Given the description of an element on the screen output the (x, y) to click on. 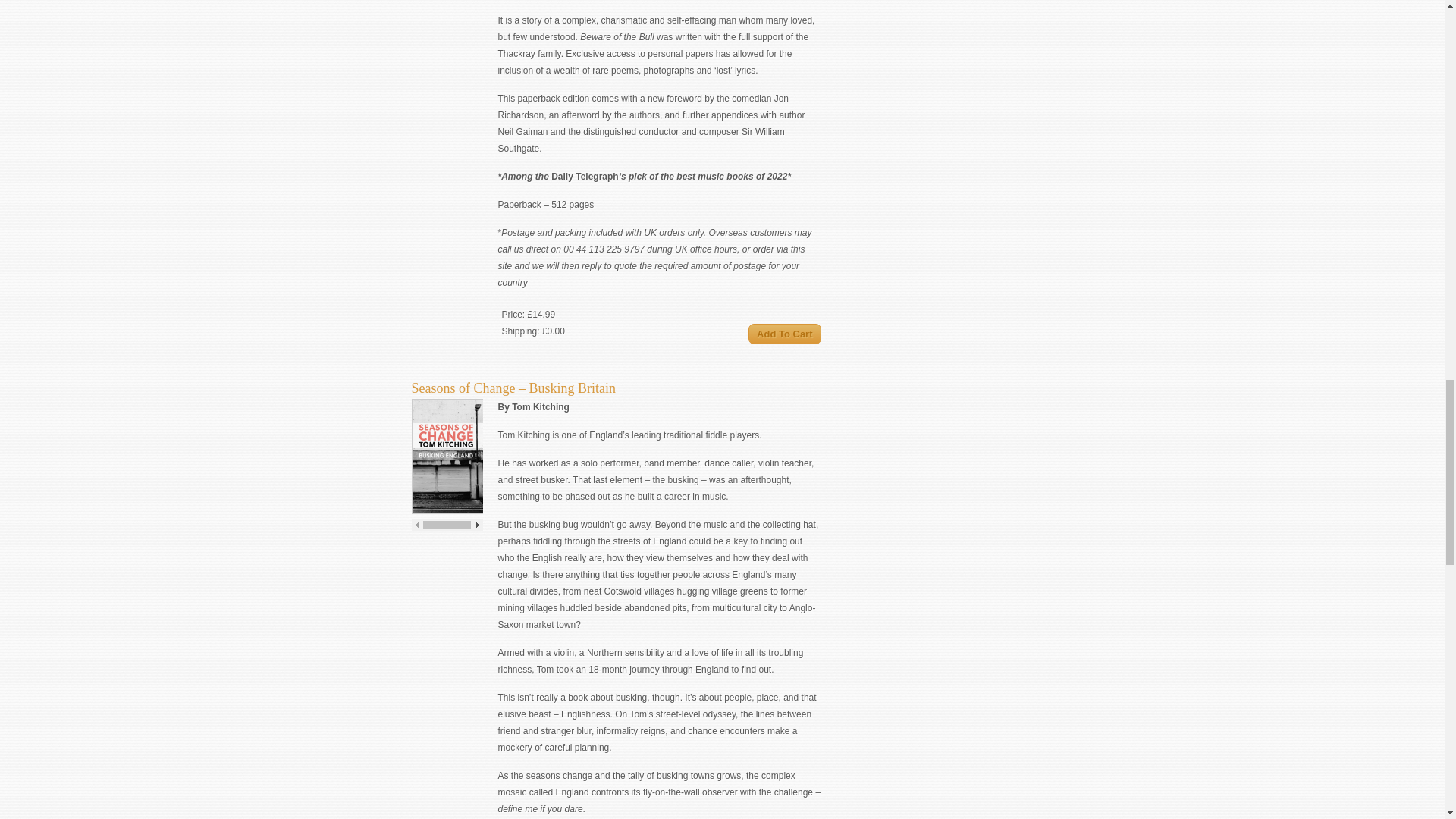
Add To Cart (784, 333)
